Given the description of an element on the screen output the (x, y) to click on. 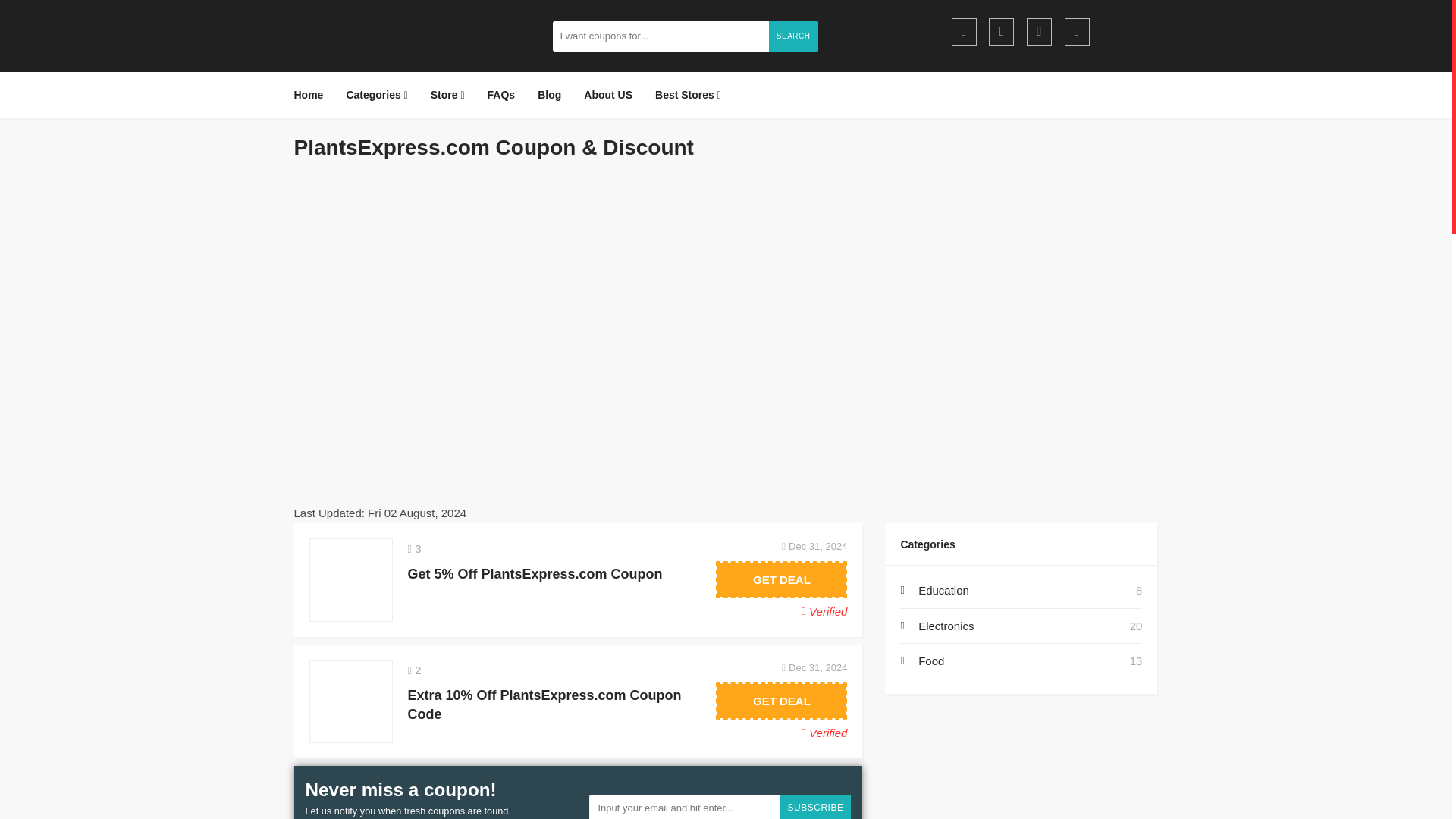
FAQs (501, 94)
Store (447, 94)
Blog (548, 94)
Best Stores (687, 94)
About US (607, 94)
Home (314, 94)
Store (447, 94)
SEARCH (793, 36)
Home (314, 94)
Categories (376, 94)
FAQs (501, 94)
Subscribe (815, 806)
Categories (376, 94)
